Given the description of an element on the screen output the (x, y) to click on. 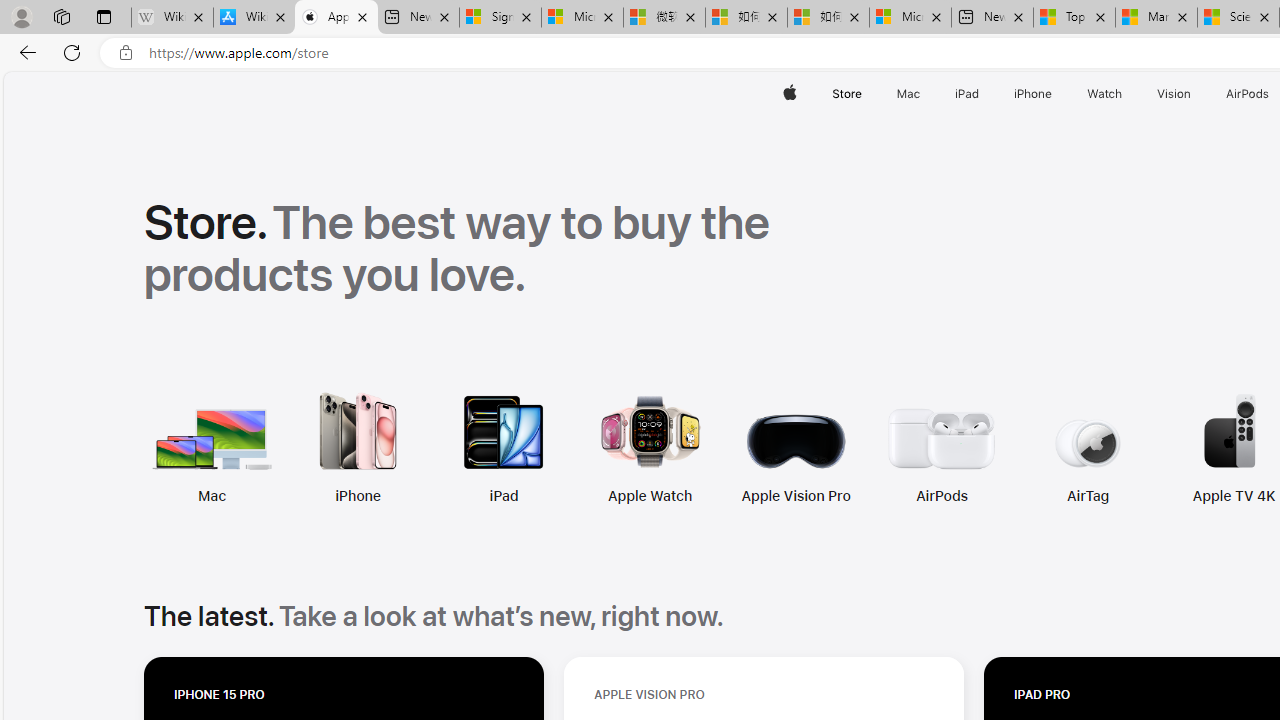
Mac (211, 496)
Vision (1174, 93)
Watch menu (1125, 93)
Apple Watch (514, 447)
Apple Watch (650, 496)
Store (846, 93)
iPhone (358, 496)
